Given the description of an element on the screen output the (x, y) to click on. 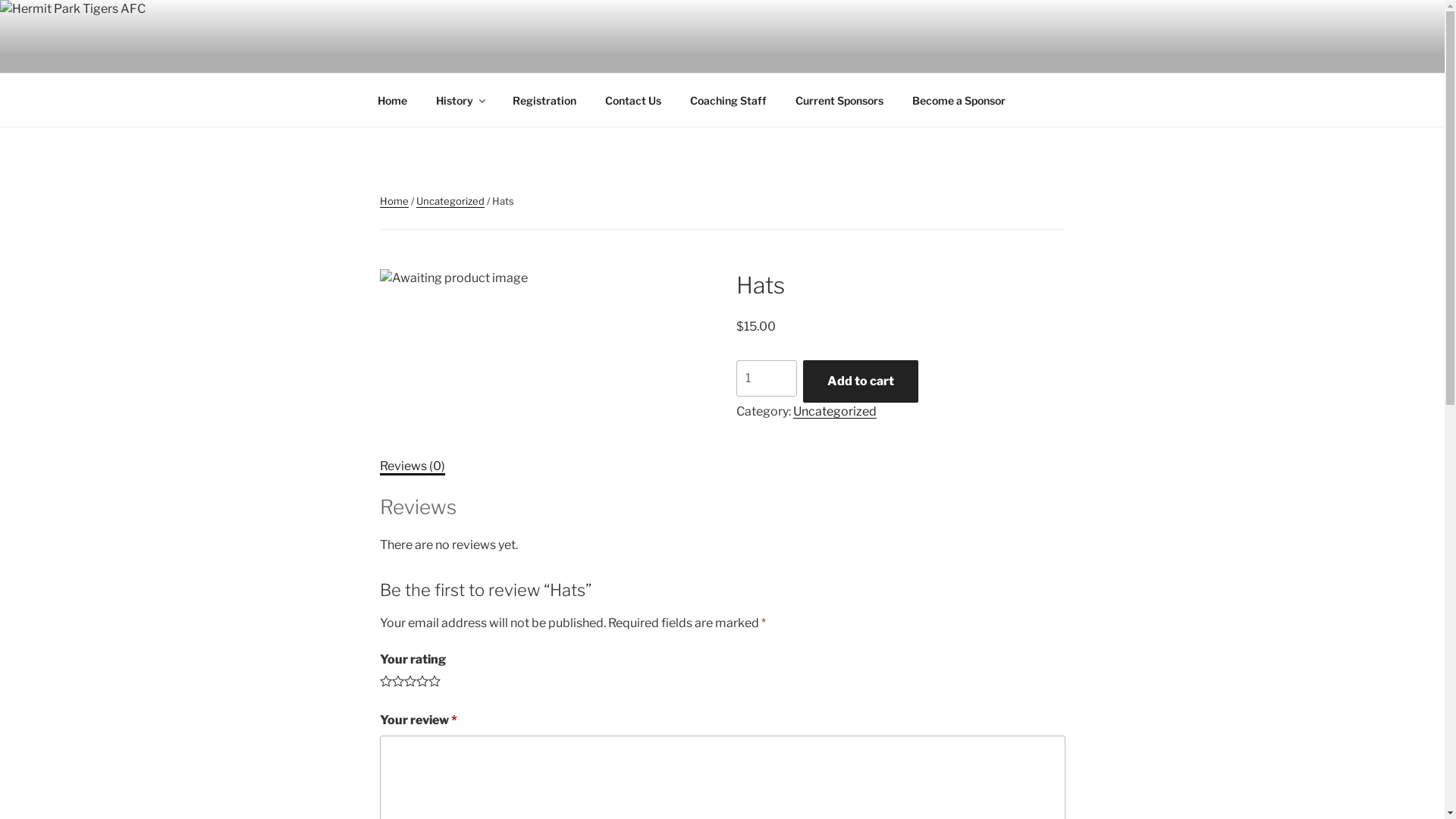
Current Sponsors Element type: text (839, 100)
Registration Element type: text (543, 100)
Home Element type: text (393, 200)
1 Element type: text (385, 680)
Skip to content Element type: text (0, 0)
Reviews (0) Element type: text (411, 465)
HERMIT PARK TIGERS AFC Element type: text (587, 52)
Add to cart Element type: text (860, 381)
Become a Sponsor Element type: text (959, 100)
Qty Element type: hover (766, 378)
3 Element type: text (409, 680)
5 Element type: text (433, 680)
4 Element type: text (421, 680)
Uncategorized Element type: text (834, 411)
History Element type: text (460, 100)
Home Element type: text (392, 100)
Contact Us Element type: text (632, 100)
2 Element type: text (397, 680)
Uncategorized Element type: text (449, 200)
Coaching Staff Element type: text (727, 100)
